Given the description of an element on the screen output the (x, y) to click on. 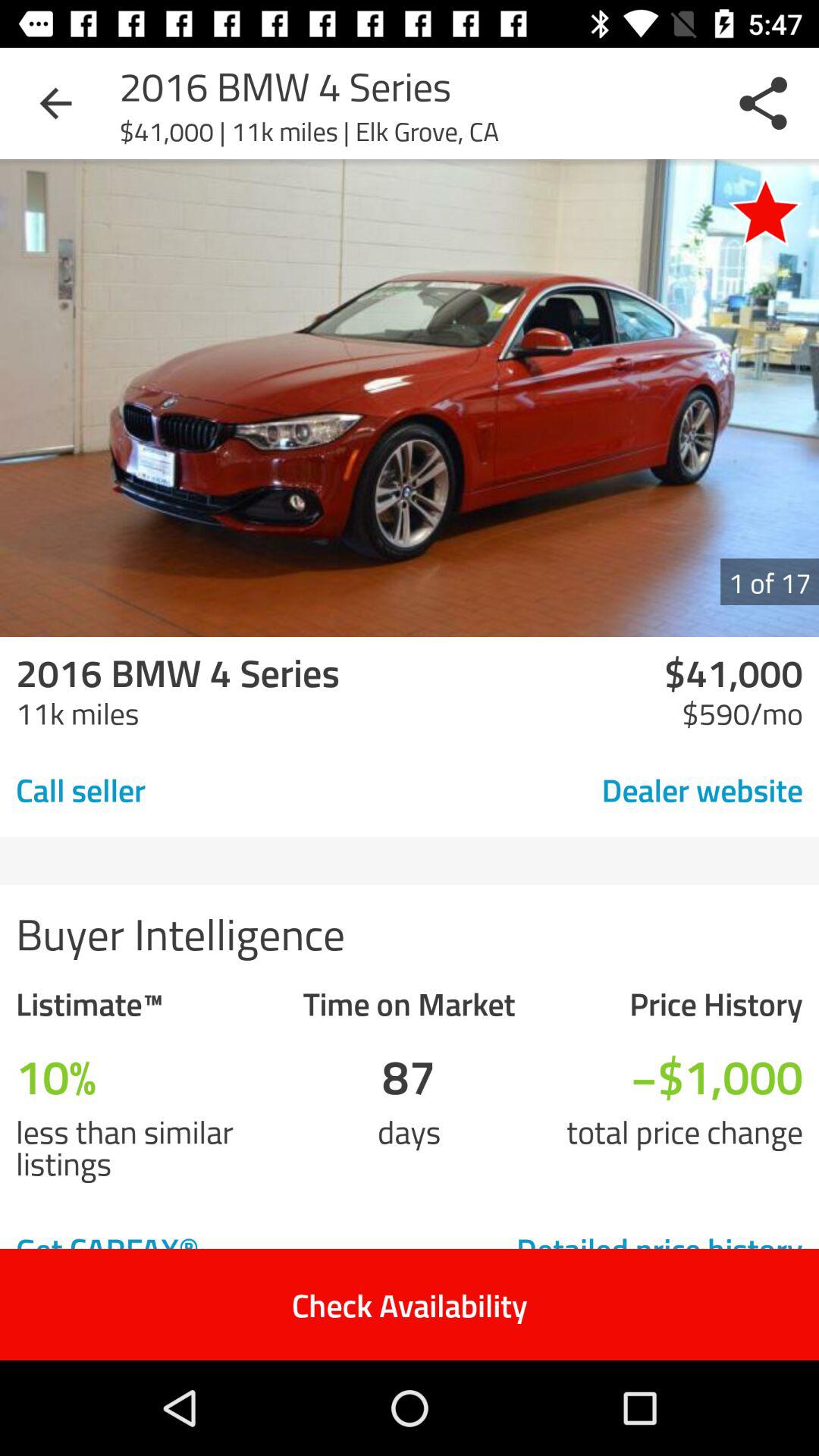
turn off icon next to 2016 bmw 4 item (55, 103)
